Given the description of an element on the screen output the (x, y) to click on. 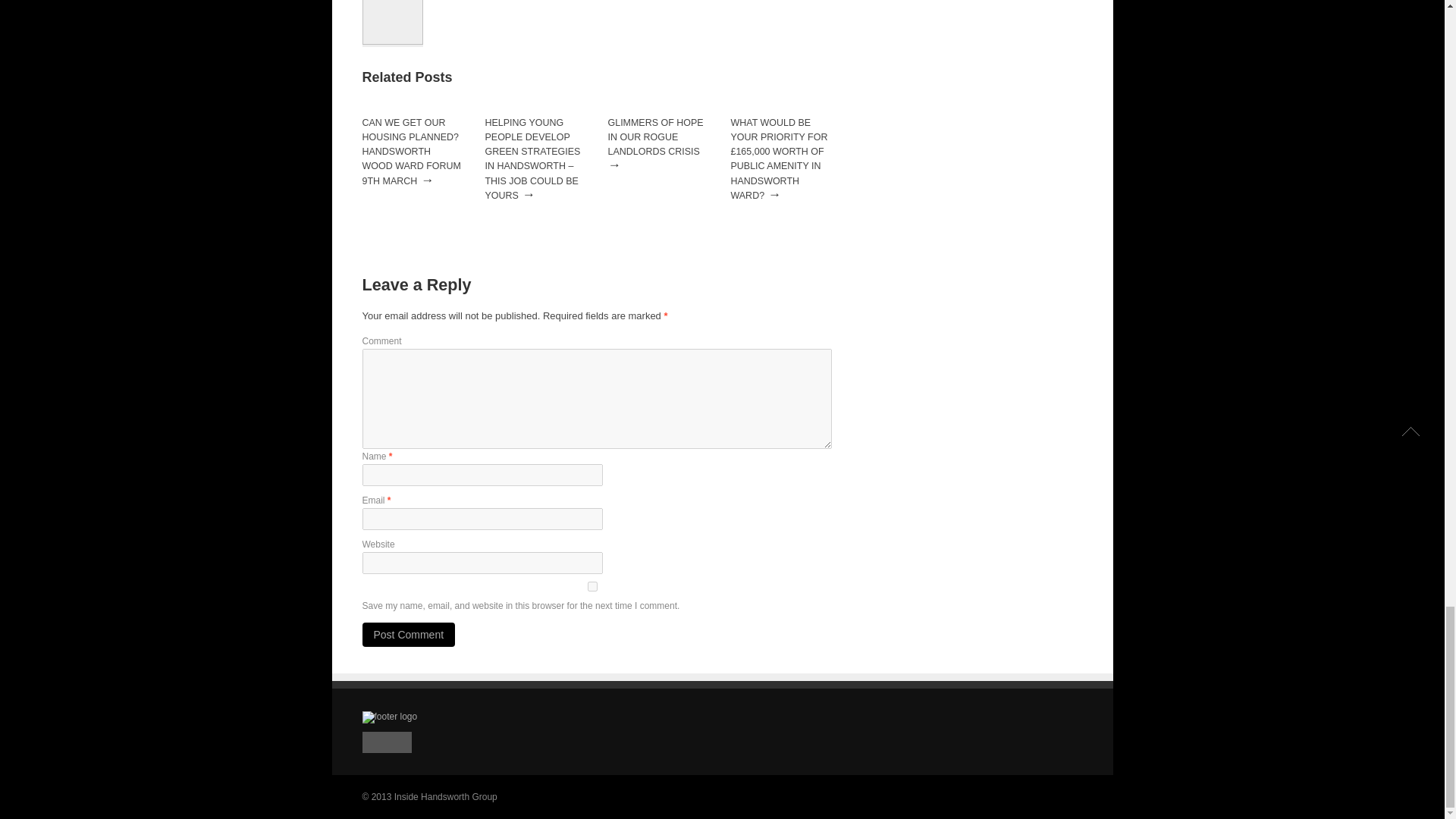
Post Comment (408, 634)
GLIMMERS OF HOPE IN OUR ROGUE LANDLORDS CRISIS (655, 137)
Post Comment (408, 634)
yes (593, 586)
GLIMMERS OF HOPE IN OUR ROGUE LANDLORDS CRISIS (655, 137)
